Given the description of an element on the screen output the (x, y) to click on. 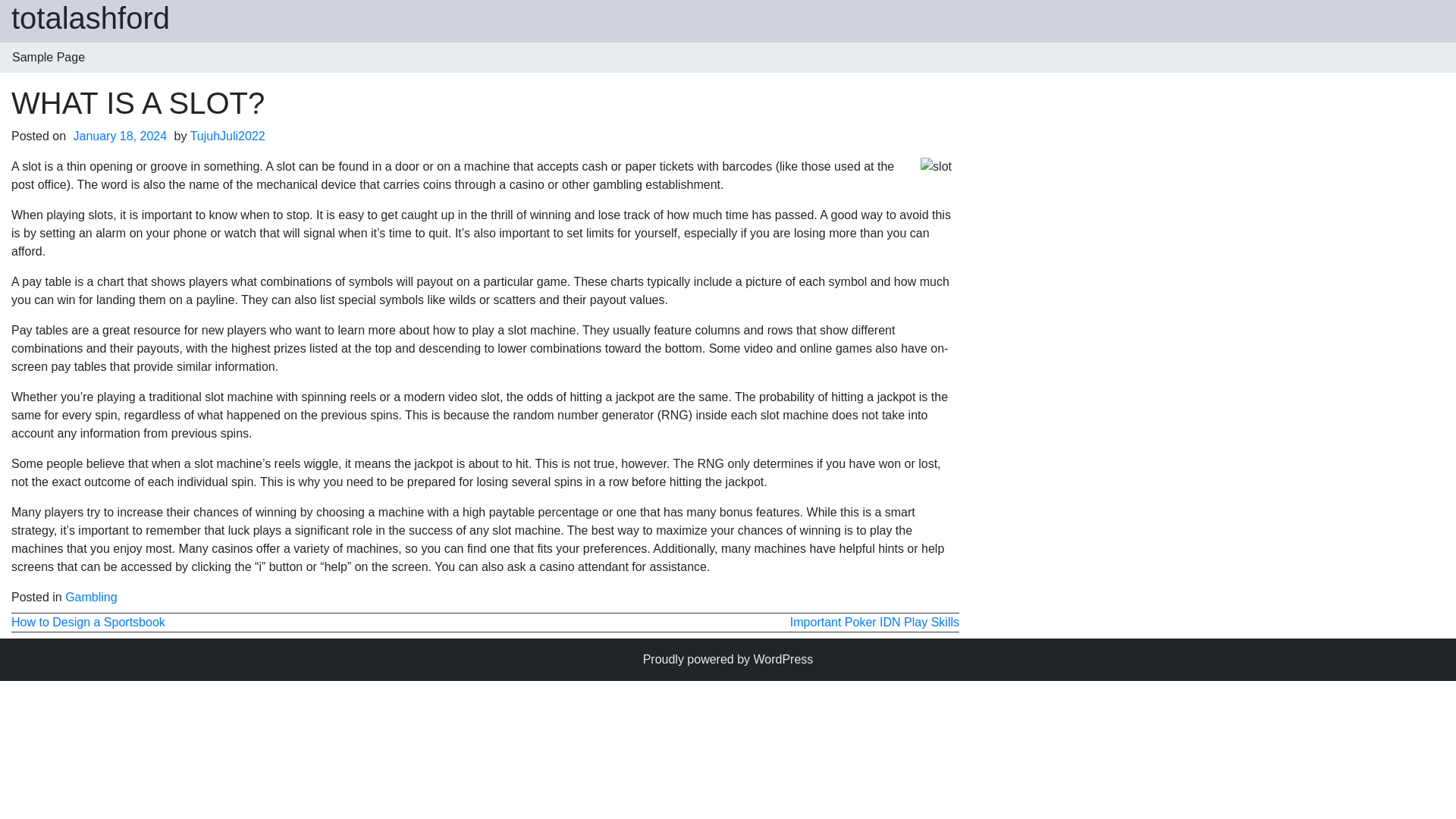
TujuhJuli2022 (227, 135)
Important Poker IDN Play Skills (874, 621)
Proudly powered by WordPress (728, 658)
How to Design a Sportsbook (88, 621)
Gambling (90, 596)
January 18, 2024 (120, 135)
Sample Page (48, 57)
totalashford (90, 18)
